Given the description of an element on the screen output the (x, y) to click on. 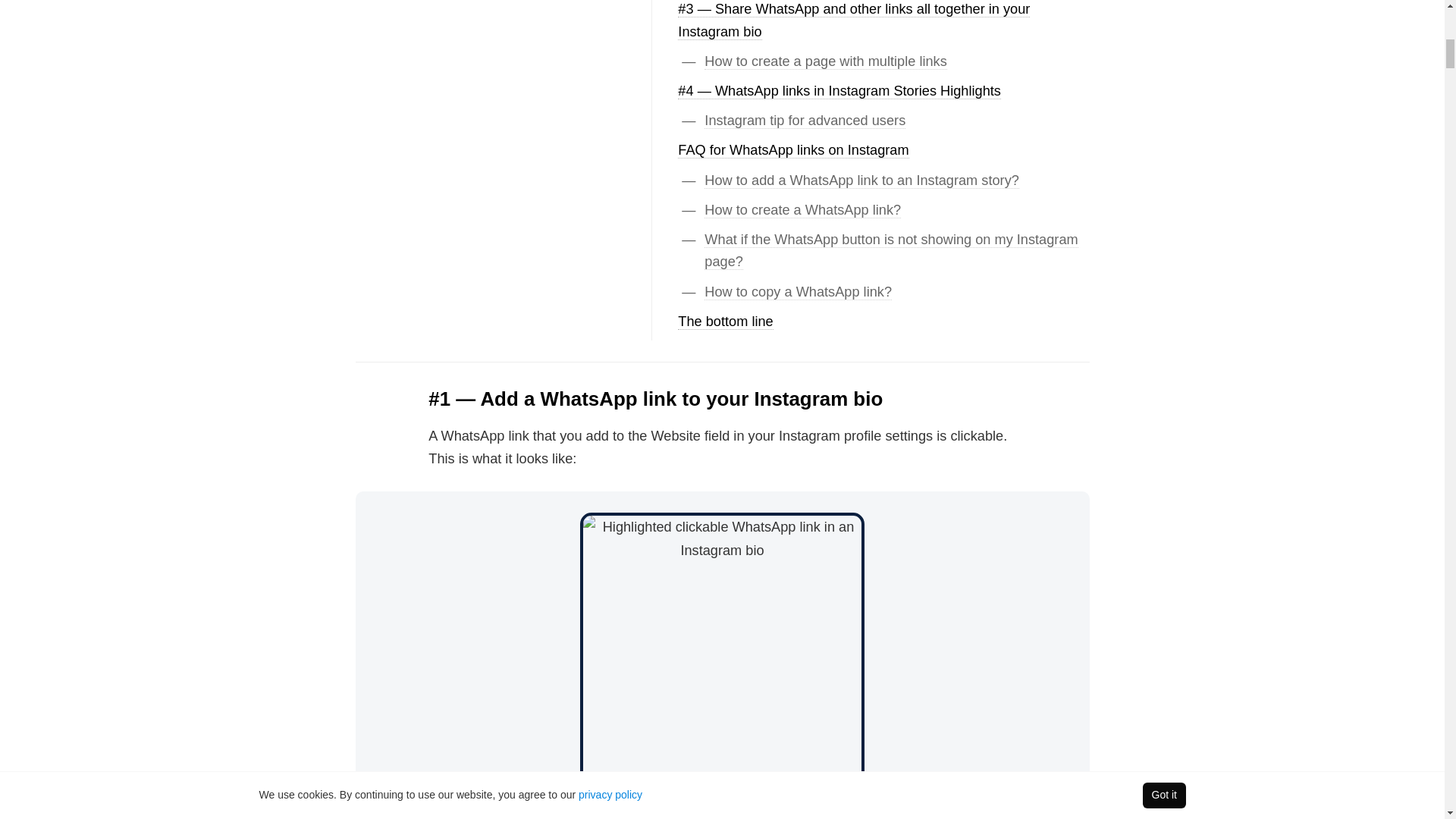
How to add a WhatsApp link to an Instagram story? (860, 180)
How to create a page with multiple links (825, 61)
How to create a WhatsApp link? (802, 210)
The bottom line (725, 321)
FAQ for WhatsApp links on Instagram (793, 150)
Instagram tip for advanced users (804, 120)
How to copy a WhatsApp link? (797, 292)
